Given the description of an element on the screen output the (x, y) to click on. 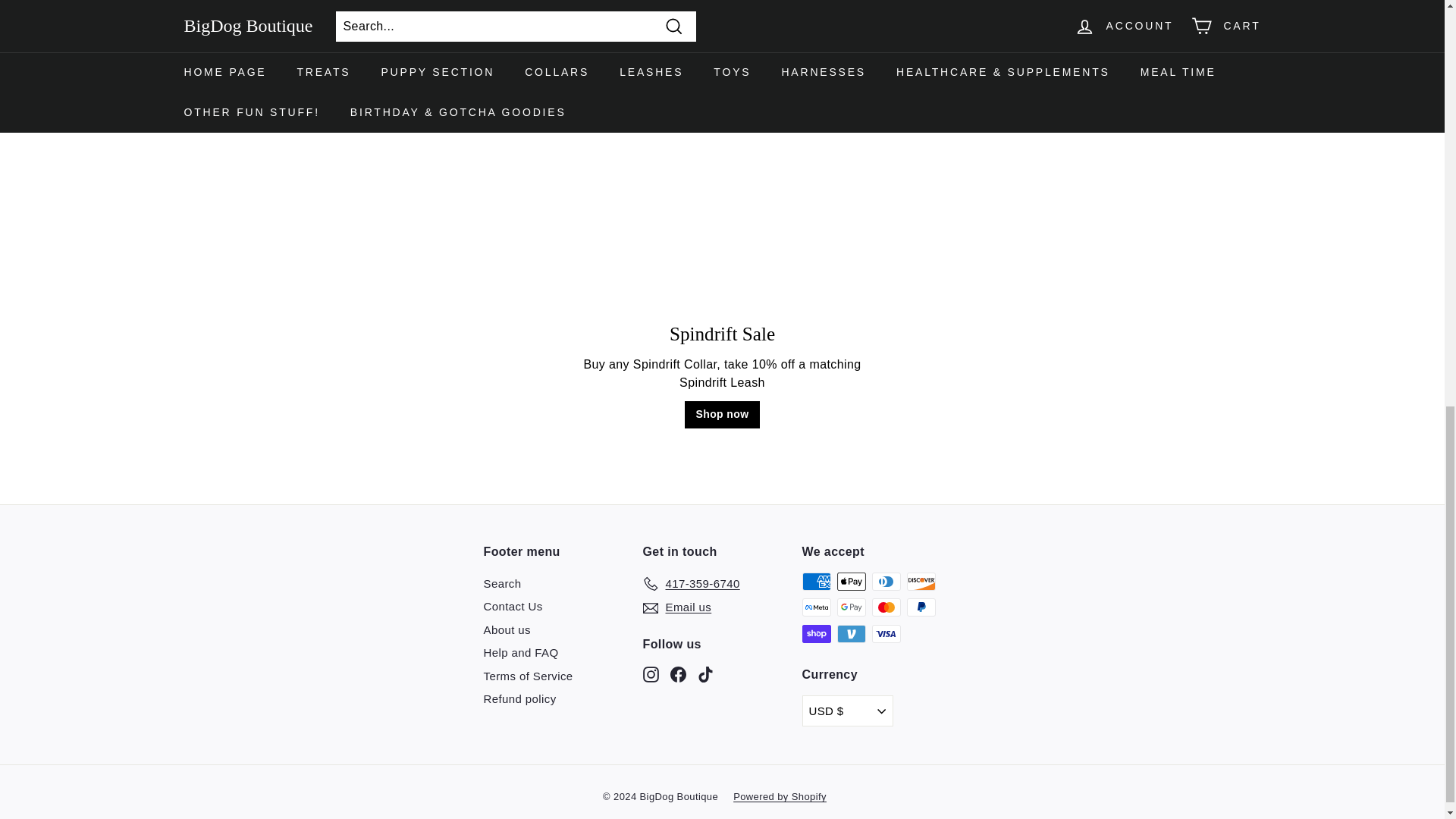
BigDog Boutique on Facebook (677, 673)
Diners Club (886, 581)
BigDog Boutique on TikTok (705, 673)
Discover (921, 581)
American Express (816, 581)
BigDog Boutique on Instagram (651, 673)
Apple Pay (851, 581)
